Given the description of an element on the screen output the (x, y) to click on. 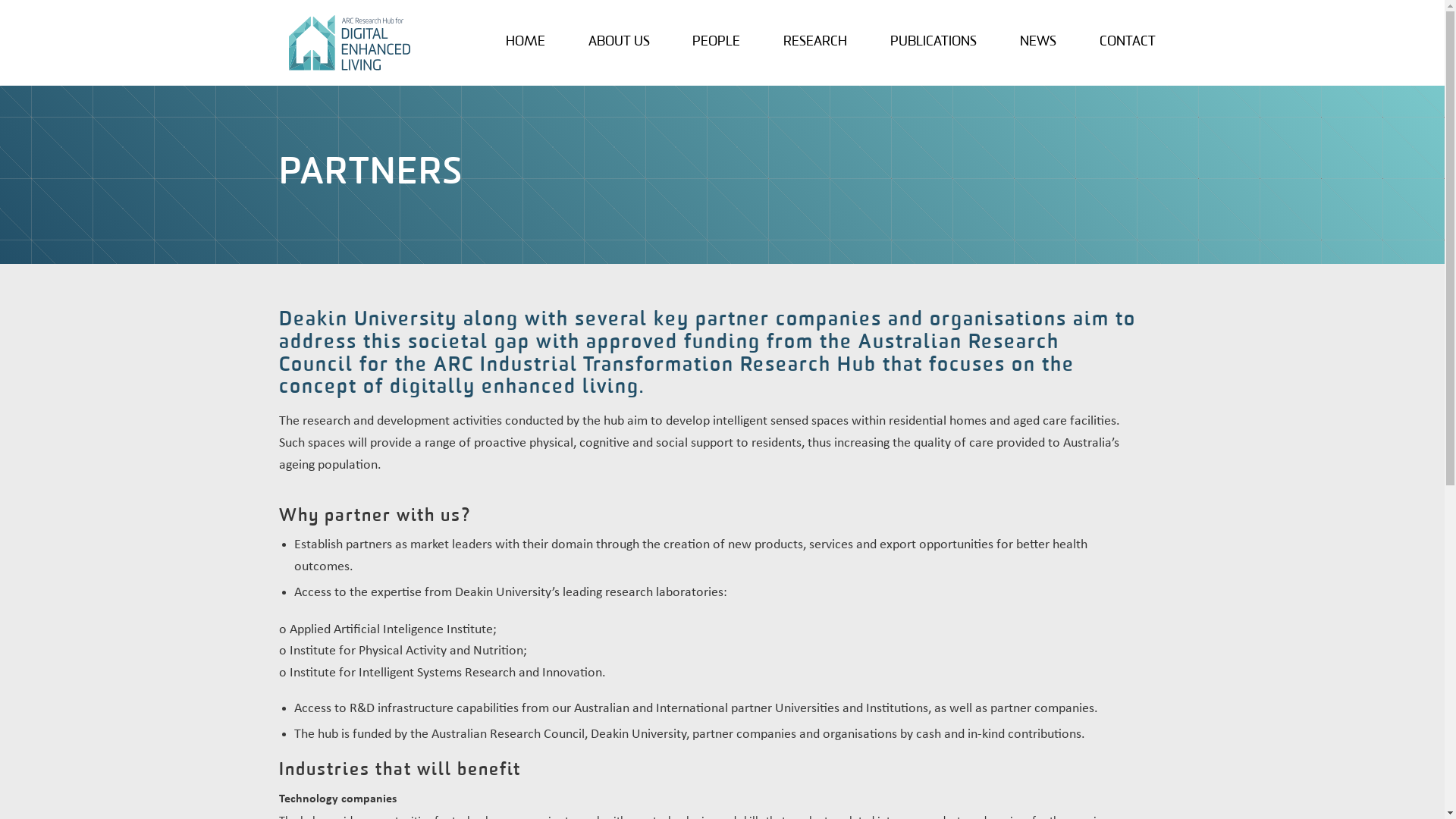
ABOUT US Element type: text (618, 42)
RESEARCH Element type: text (815, 42)
HOME Element type: text (525, 42)
NEWS Element type: text (1037, 42)
PEOPLE Element type: text (716, 42)
CONTACT Element type: text (1127, 42)
PUBLICATIONS Element type: text (933, 42)
